Given the description of an element on the screen output the (x, y) to click on. 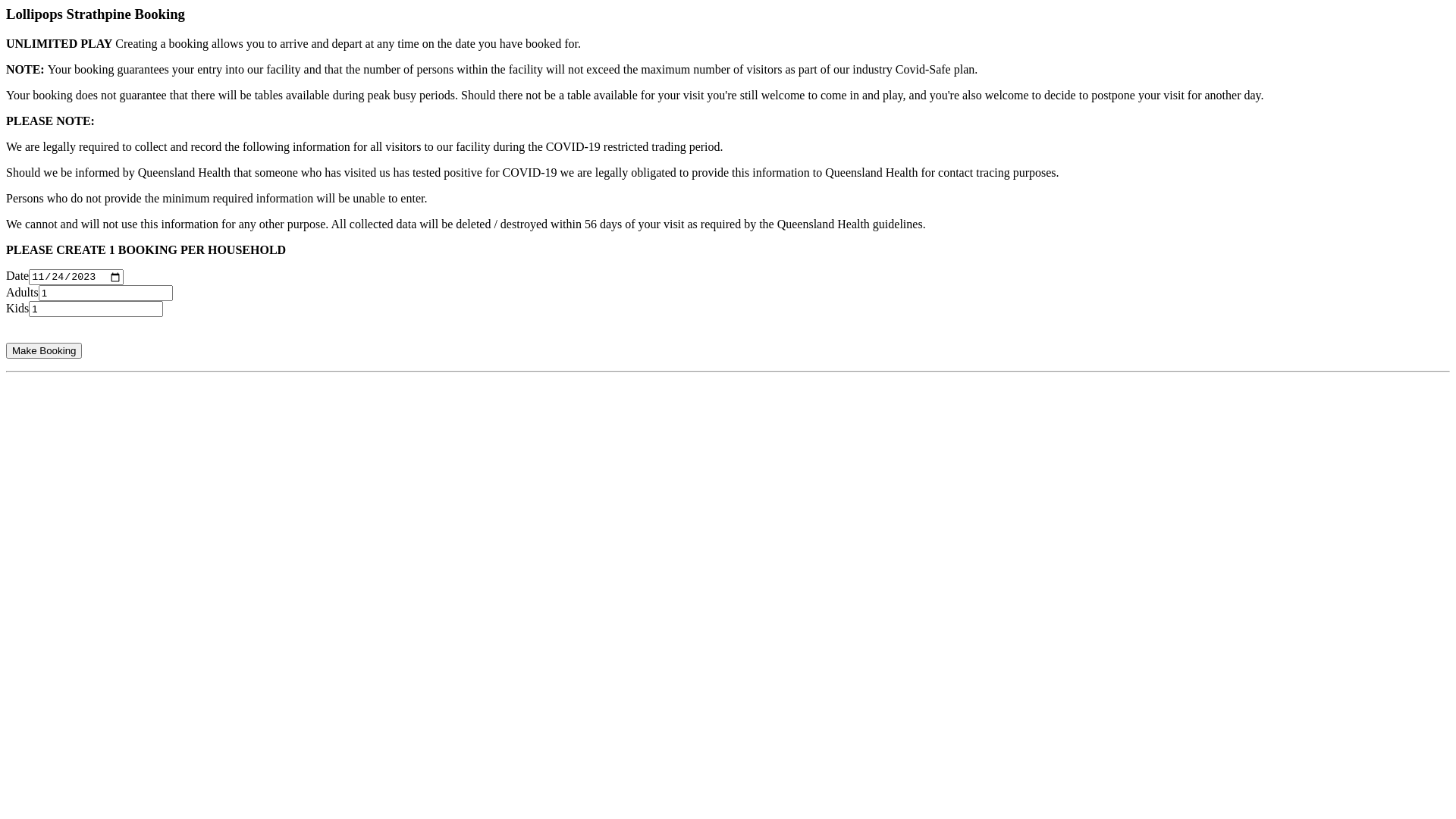
Make Booking Element type: text (43, 350)
